Given the description of an element on the screen output the (x, y) to click on. 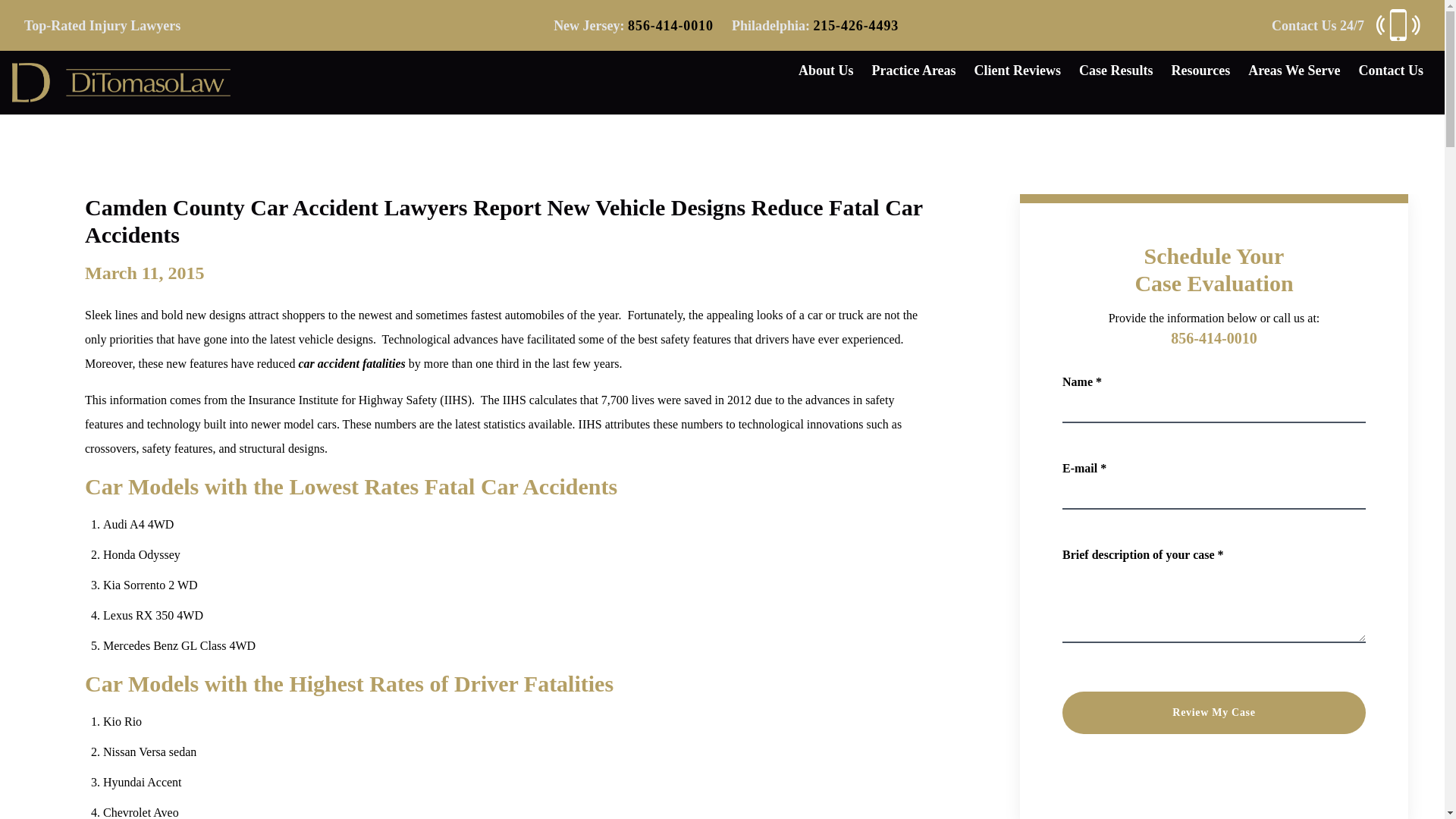
856-414-0010 (670, 25)
215-426-4493 (855, 25)
